Given the description of an element on the screen output the (x, y) to click on. 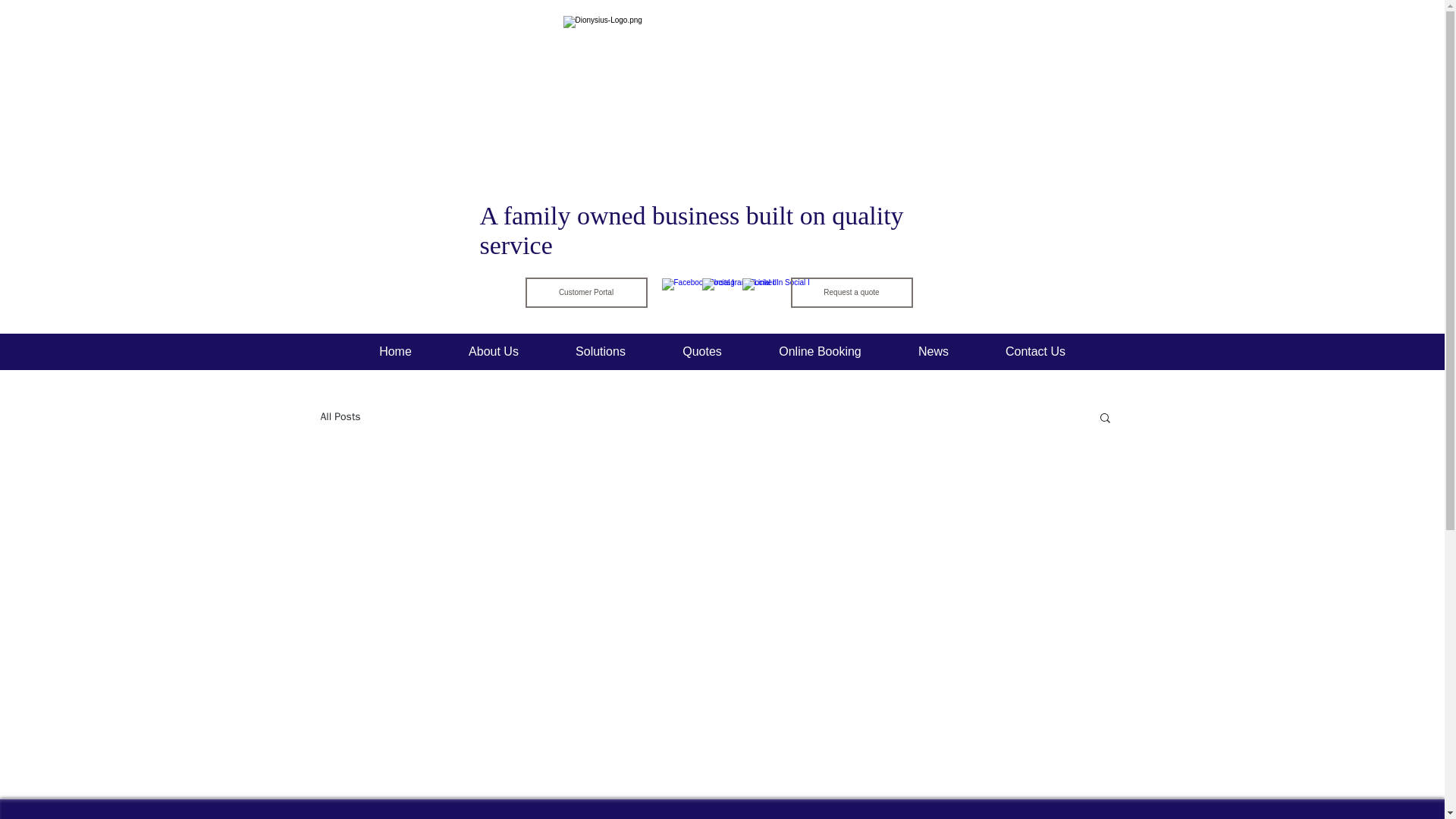
Home (394, 351)
Contact Us (1034, 351)
Request a quote (851, 292)
News (932, 351)
Solutions (600, 351)
Customer Portal (585, 292)
Online Booking (820, 351)
All Posts (339, 417)
Quotes (701, 351)
About Us (493, 351)
